Given the description of an element on the screen output the (x, y) to click on. 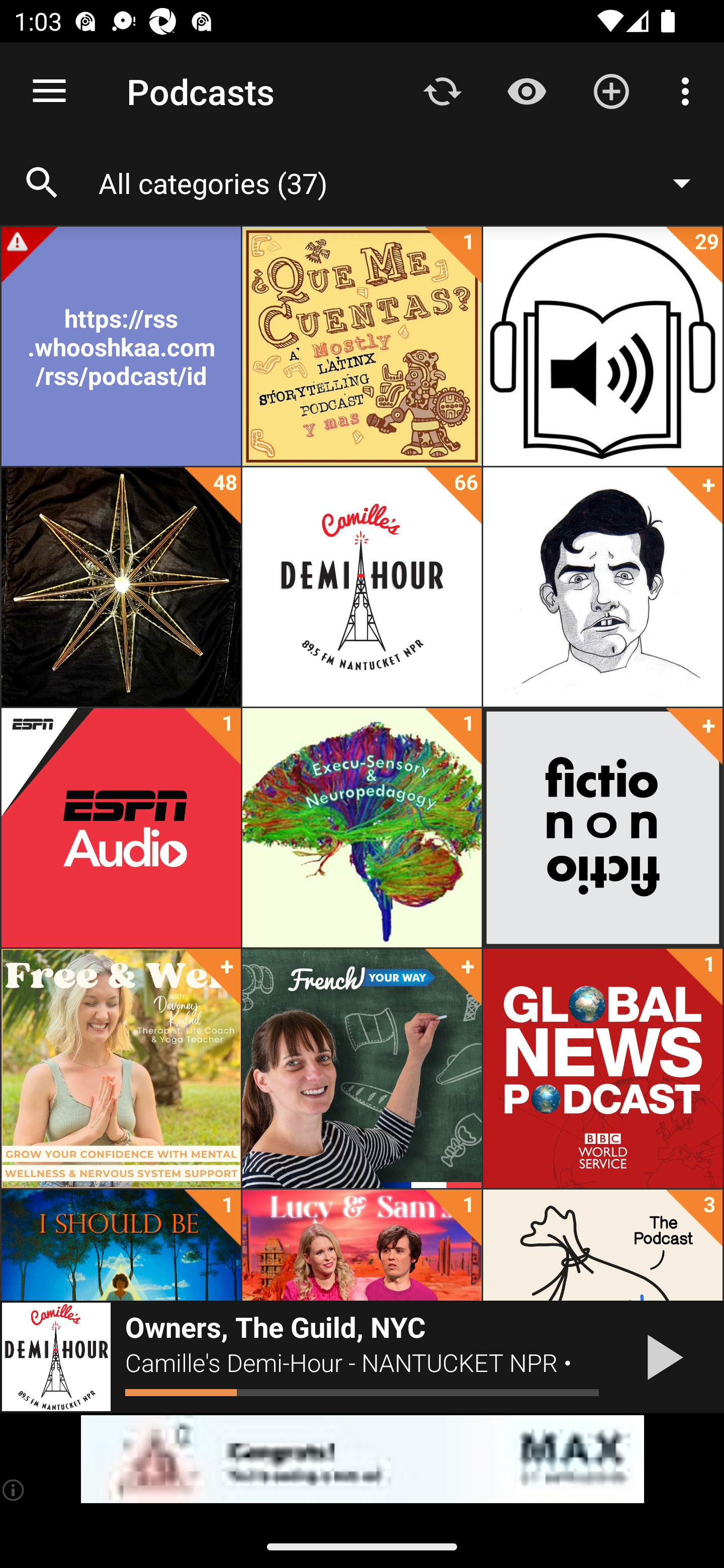
Open navigation sidebar (49, 91)
Update (442, 90)
Show / Hide played content (526, 90)
Add new Podcast (611, 90)
More options (688, 90)
Search (42, 183)
All categories (37) (404, 182)
https://rss.whooshkaa.com/rss/podcast/id/5884 (121, 346)
¿Qué Me Cuentas?: Latinx Storytelling 1 (361, 346)
Audiobooks 29 (602, 346)
Audiobooks 48 (121, 587)
Camille's Demi-Hour - NANTUCKET NPR 66 (361, 587)
Cooking Issues with Dave Arnold + (602, 587)
ESPN Audio 1 (121, 827)
fiction/non/fiction + (602, 827)
Global News Podcast 1 (602, 1068)
Play / Pause (660, 1356)
app-monetization (362, 1459)
(i) (14, 1489)
